Given the description of an element on the screen output the (x, y) to click on. 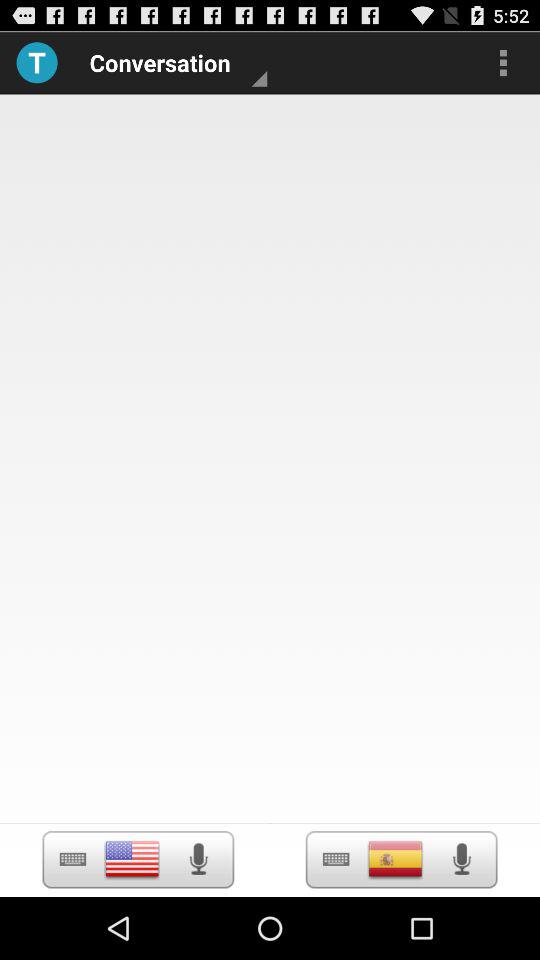
select language to english (131, 859)
